Given the description of an element on the screen output the (x, y) to click on. 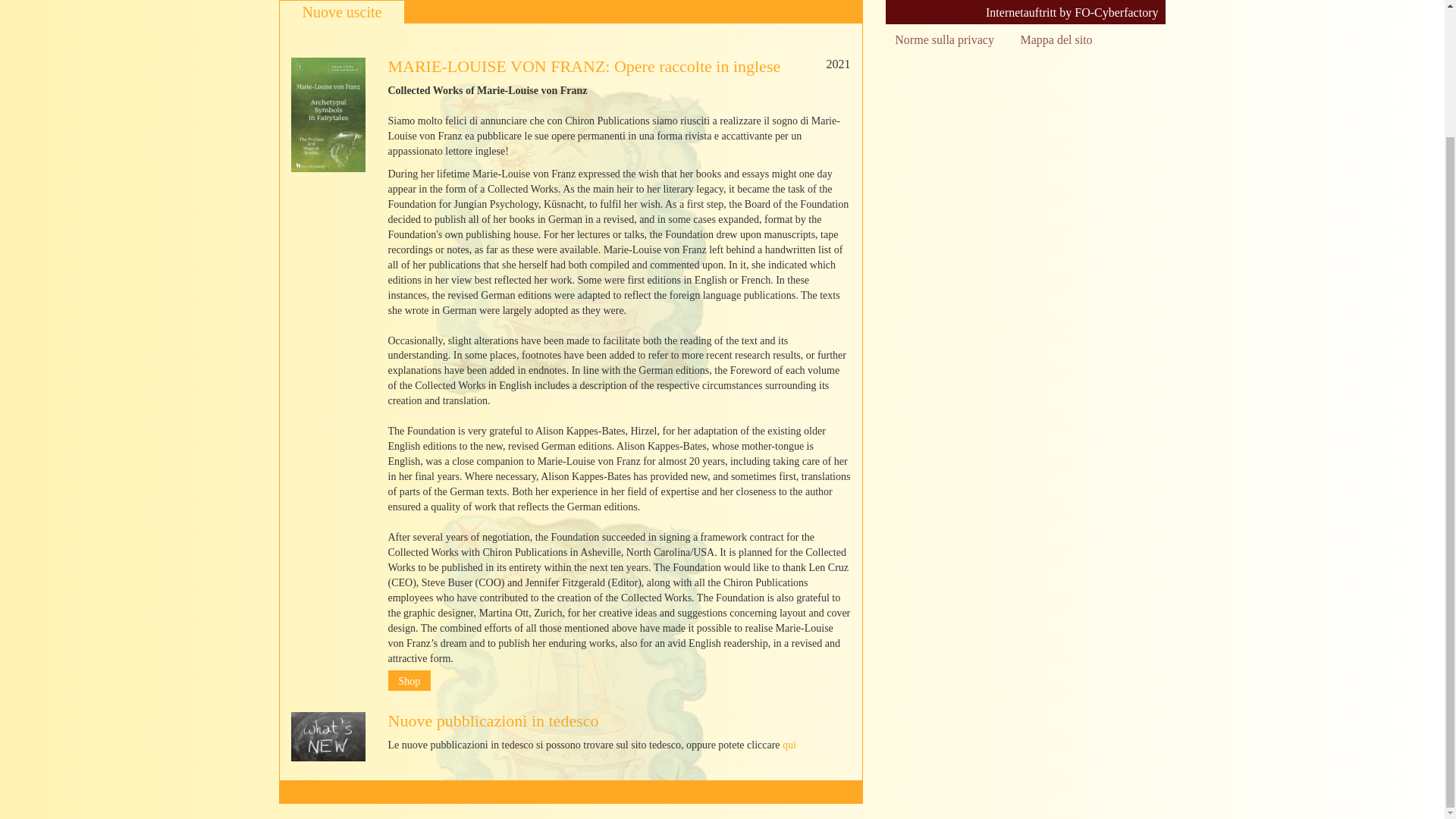
Shop (409, 680)
Norme sulla privacy (944, 40)
Internetauftritt by FO-Cyberfactory (1072, 12)
Mappa del sito (1056, 40)
Collected Works of Marie-Louise von Franz (409, 680)
qui (789, 745)
